Given the description of an element on the screen output the (x, y) to click on. 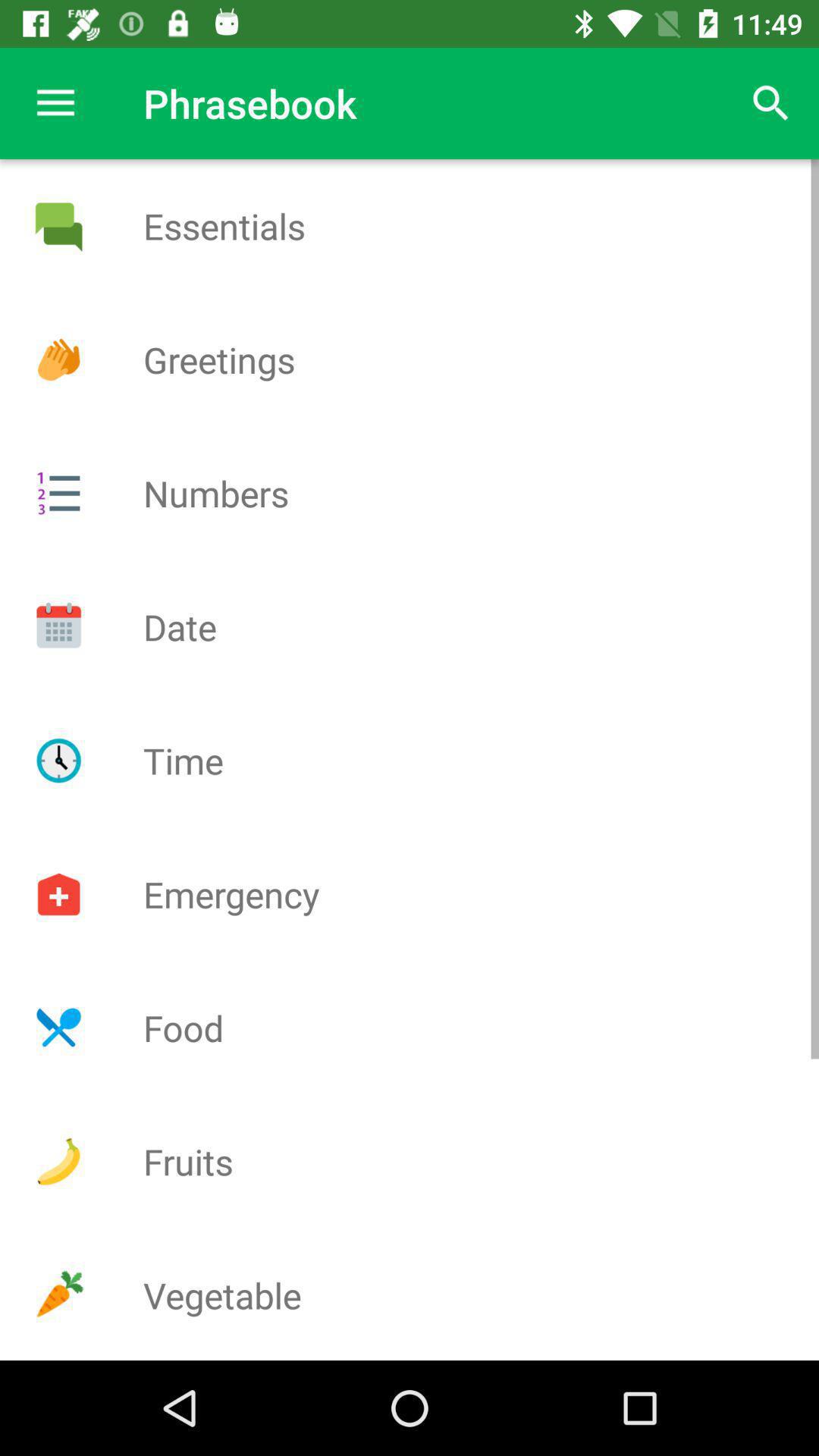
go to time option (58, 760)
